Given the description of an element on the screen output the (x, y) to click on. 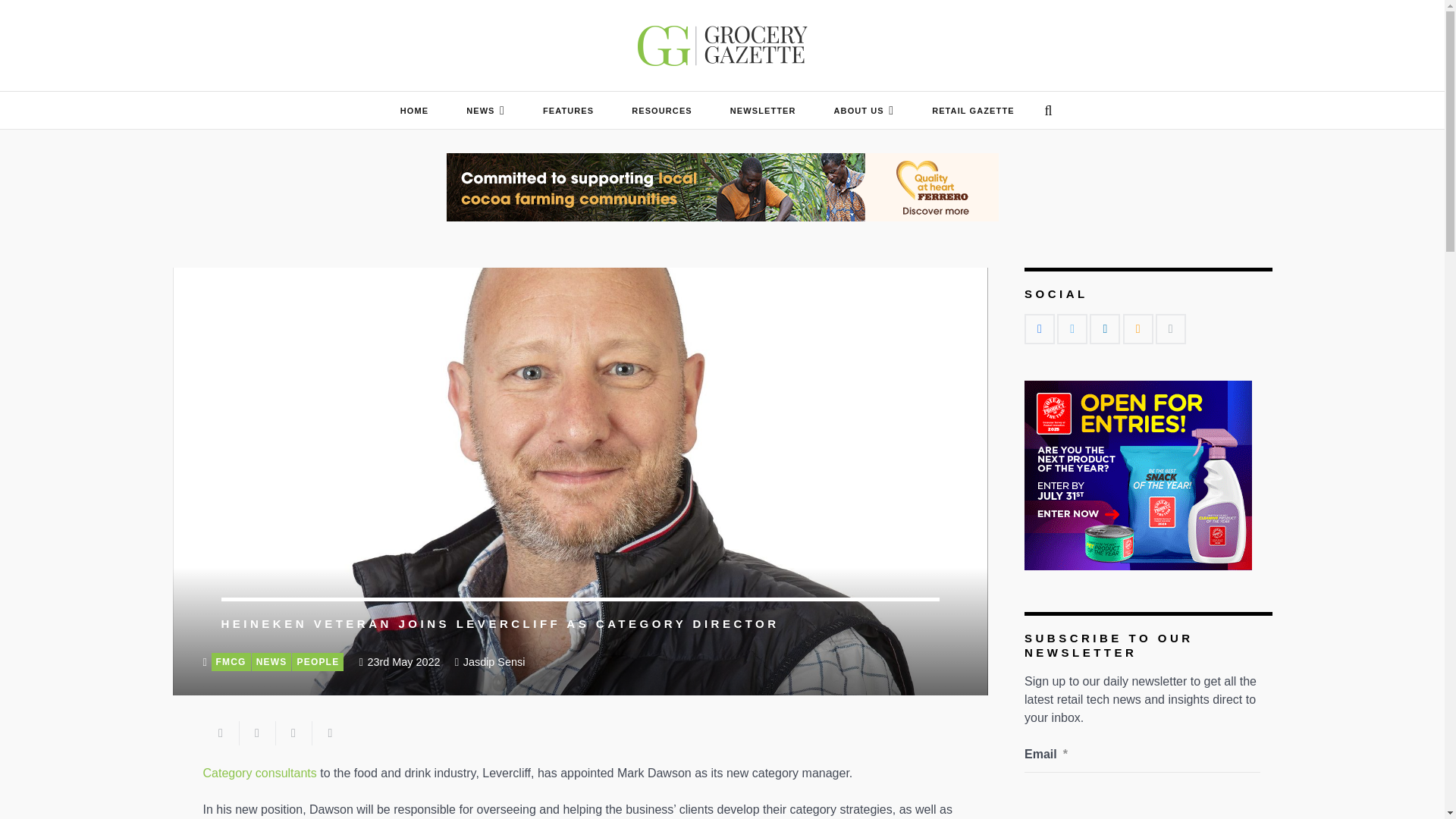
FEATURES (568, 110)
Tweet this (294, 733)
Facebook (1039, 328)
NEWS (485, 110)
Share this (331, 733)
Twitter (1072, 328)
LinkedIn (1104, 328)
Share this (258, 733)
Email (1171, 328)
RSS (1137, 328)
HOME (413, 110)
Email this (221, 733)
